Given the description of an element on the screen output the (x, y) to click on. 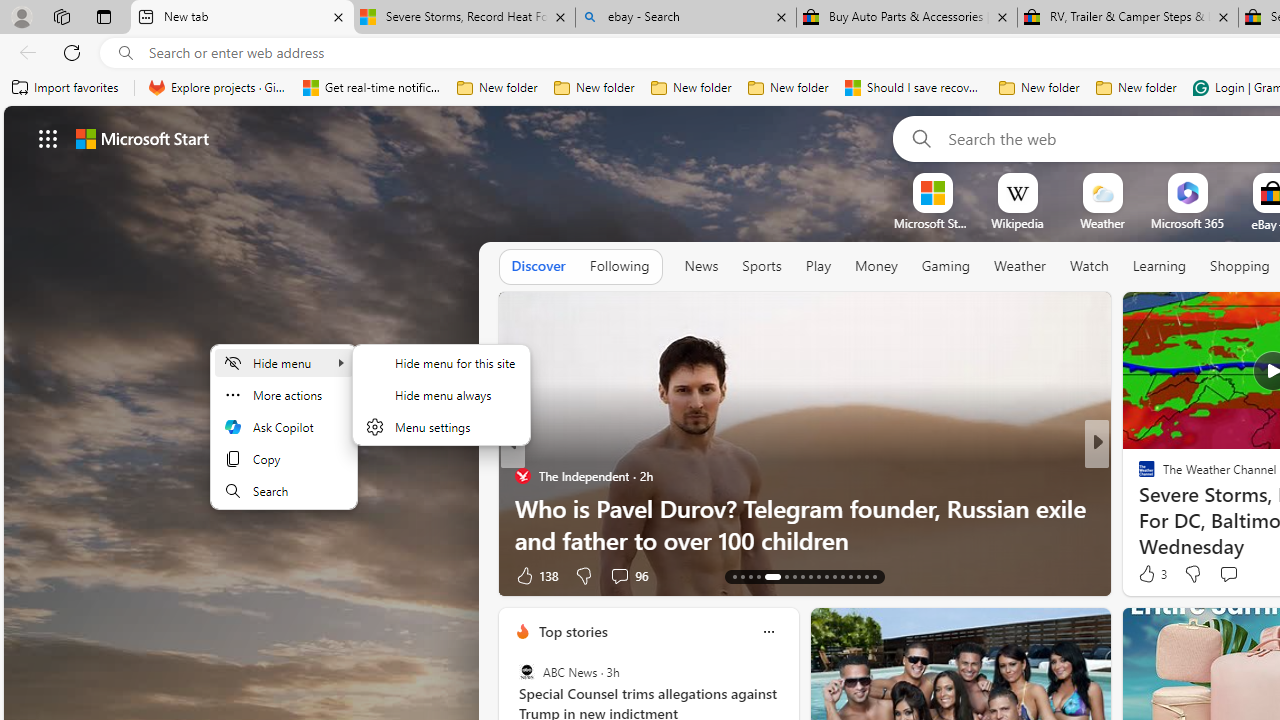
Forge of Empires (1175, 507)
AutomationID: tab-24 (833, 576)
Ask Copilot (284, 426)
Sports (761, 265)
Learning (1159, 267)
Microsoft 365 (1186, 223)
AutomationID: tab-27 (857, 576)
Gaming (945, 267)
Sports (761, 267)
AutomationID: tab-20 (801, 576)
Menu settings (441, 426)
